Given the description of an element on the screen output the (x, y) to click on. 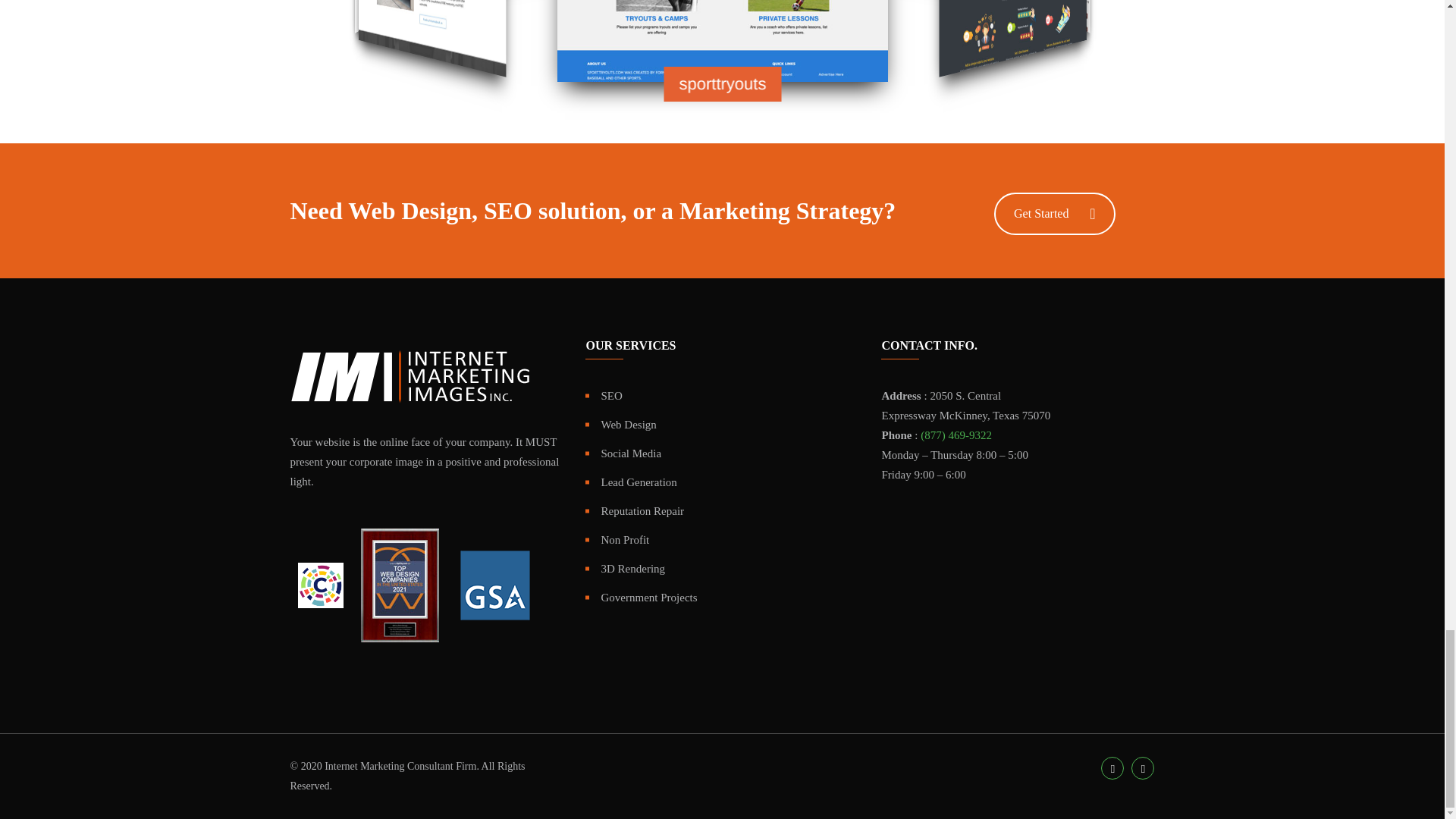
screenqueens (523, 44)
holtmccallany (900, 108)
dbmsinc (594, 97)
hmconstruction (520, 73)
